Given the description of an element on the screen output the (x, y) to click on. 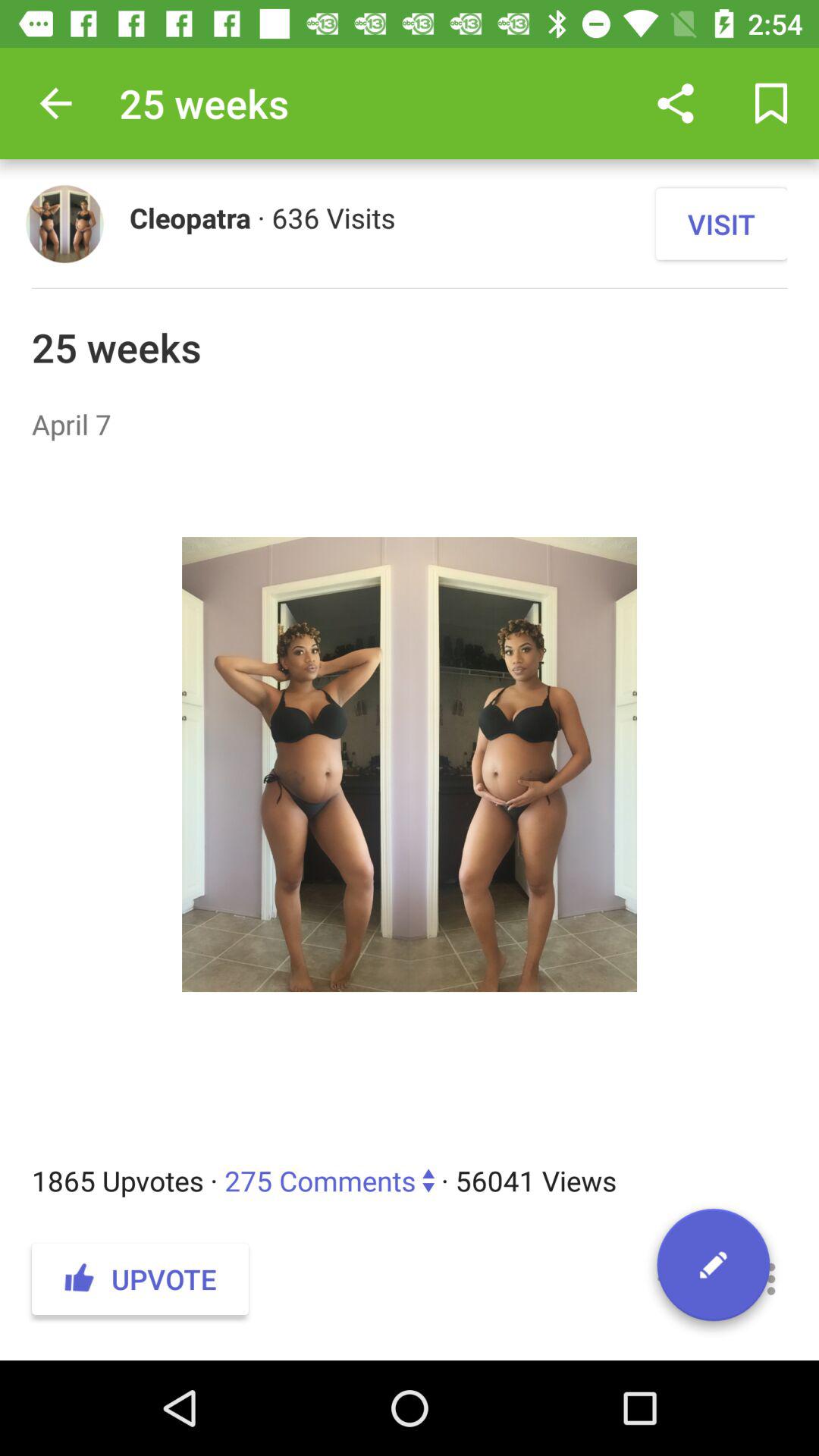
scroll until upvote item (139, 1278)
